Given the description of an element on the screen output the (x, y) to click on. 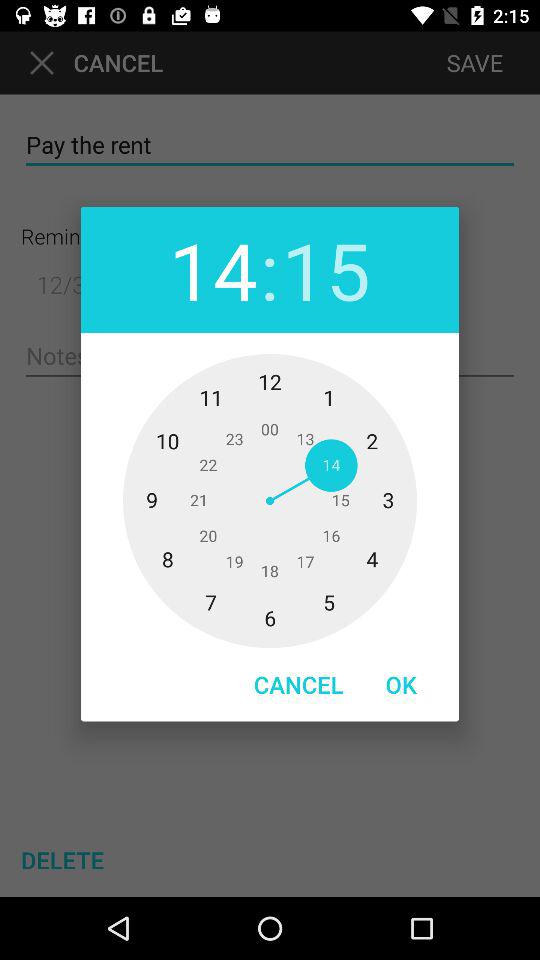
press the 15 icon (325, 269)
